Given the description of an element on the screen output the (x, y) to click on. 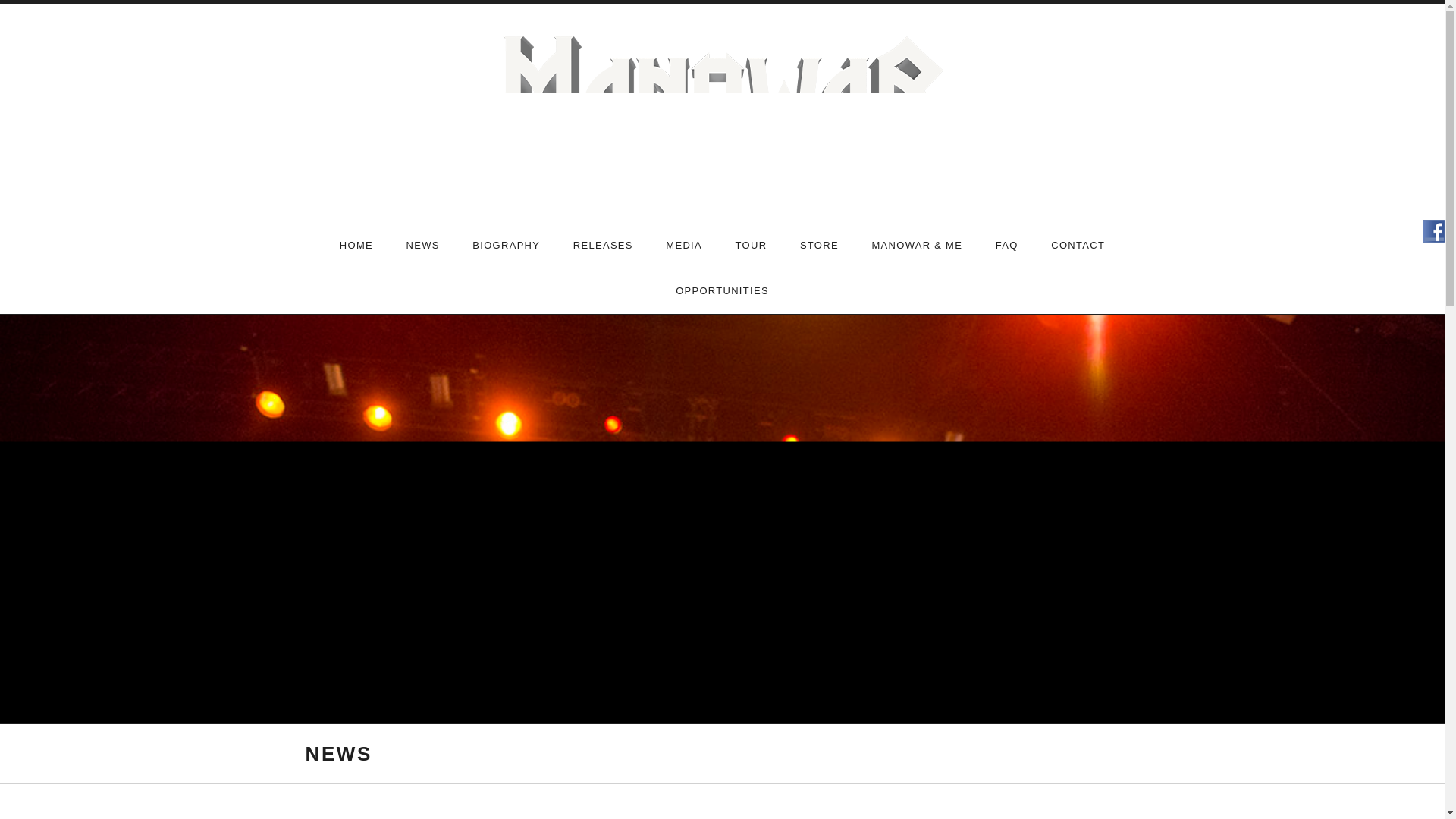
FAQ (1006, 245)
TOUR (751, 245)
CONTACT (1077, 245)
STORE (818, 245)
BIOGRAPHY (505, 245)
OPPORTUNITIES (722, 290)
RELEASES (602, 245)
NEWS (422, 245)
HOME (356, 245)
MEDIA (683, 245)
